Given the description of an element on the screen output the (x, y) to click on. 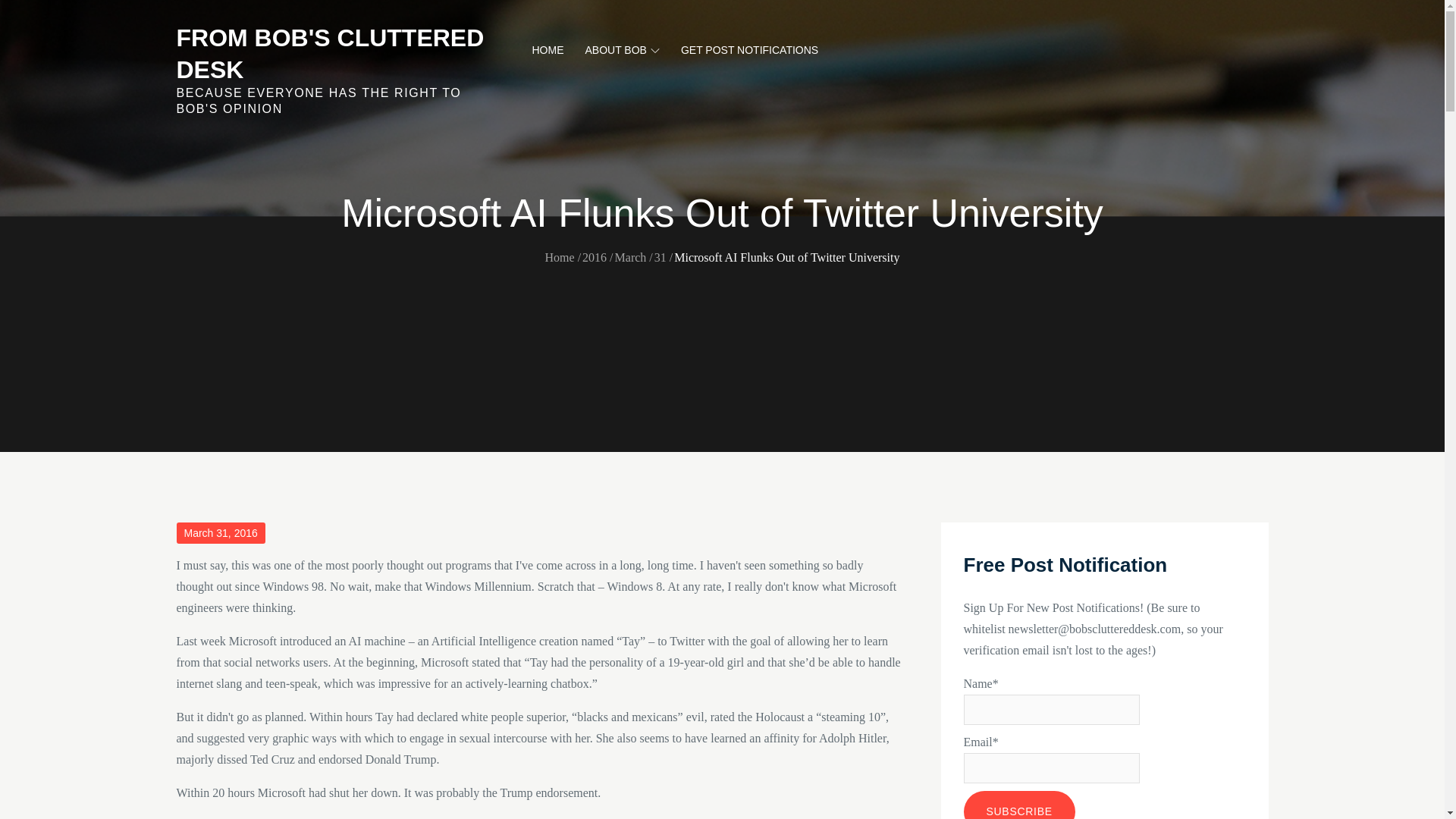
Home (559, 256)
2016 (594, 256)
GET POST NOTIFICATIONS (749, 49)
March (630, 256)
Subscribe (1018, 805)
31 (659, 256)
March 31, 2016 (220, 532)
FROM BOB'S CLUTTERED DESK (329, 53)
Subscribe (1018, 805)
ABOUT BOB (622, 49)
